Given the description of an element on the screen output the (x, y) to click on. 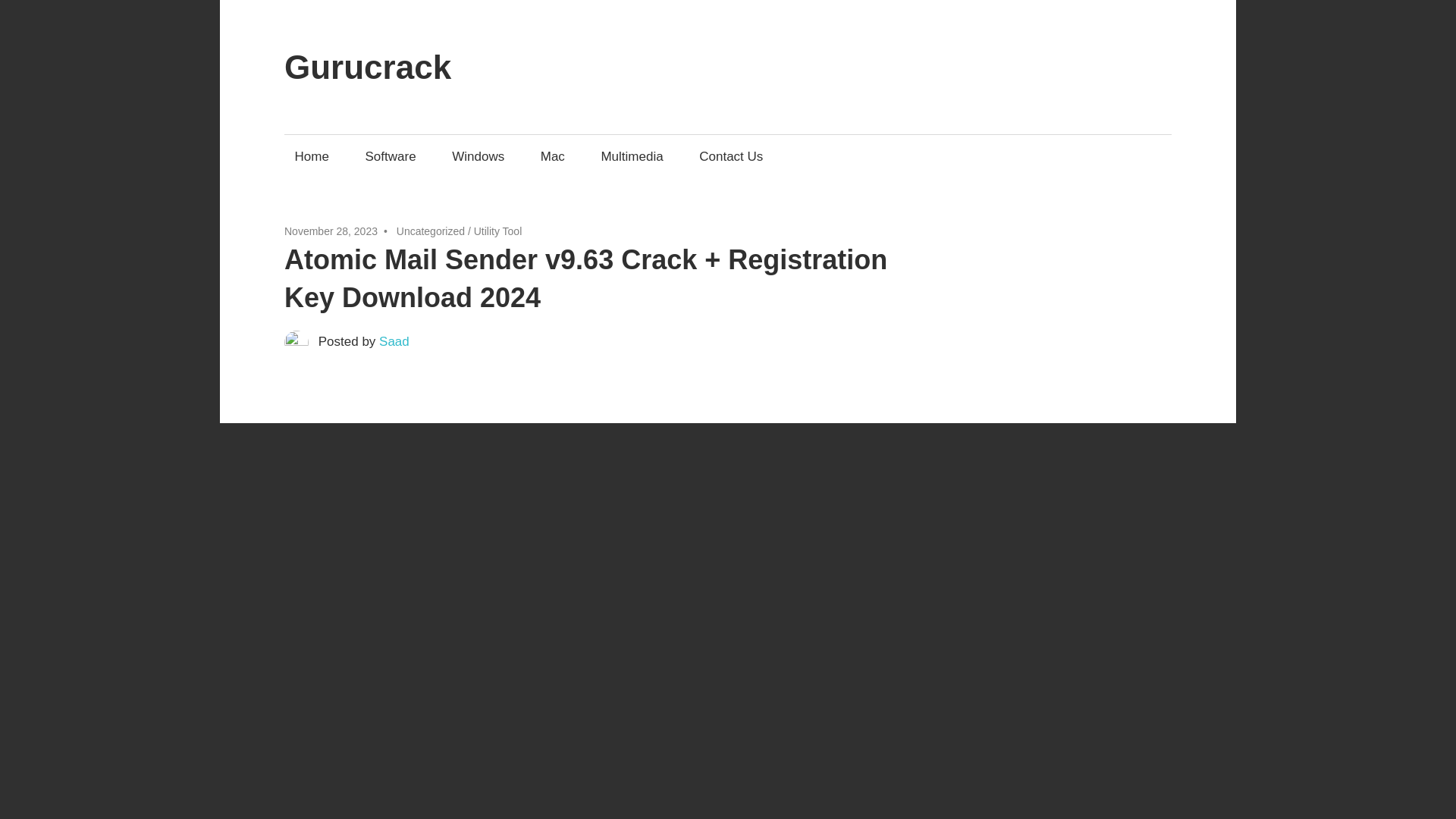
Mac (552, 156)
Home (311, 156)
Saad (393, 341)
Windows (478, 156)
Multimedia (631, 156)
Utility Tool (498, 231)
Contact Us (730, 156)
12:00 am (330, 231)
Gurucrack (367, 66)
View all posts by Saad (393, 341)
